Given the description of an element on the screen output the (x, y) to click on. 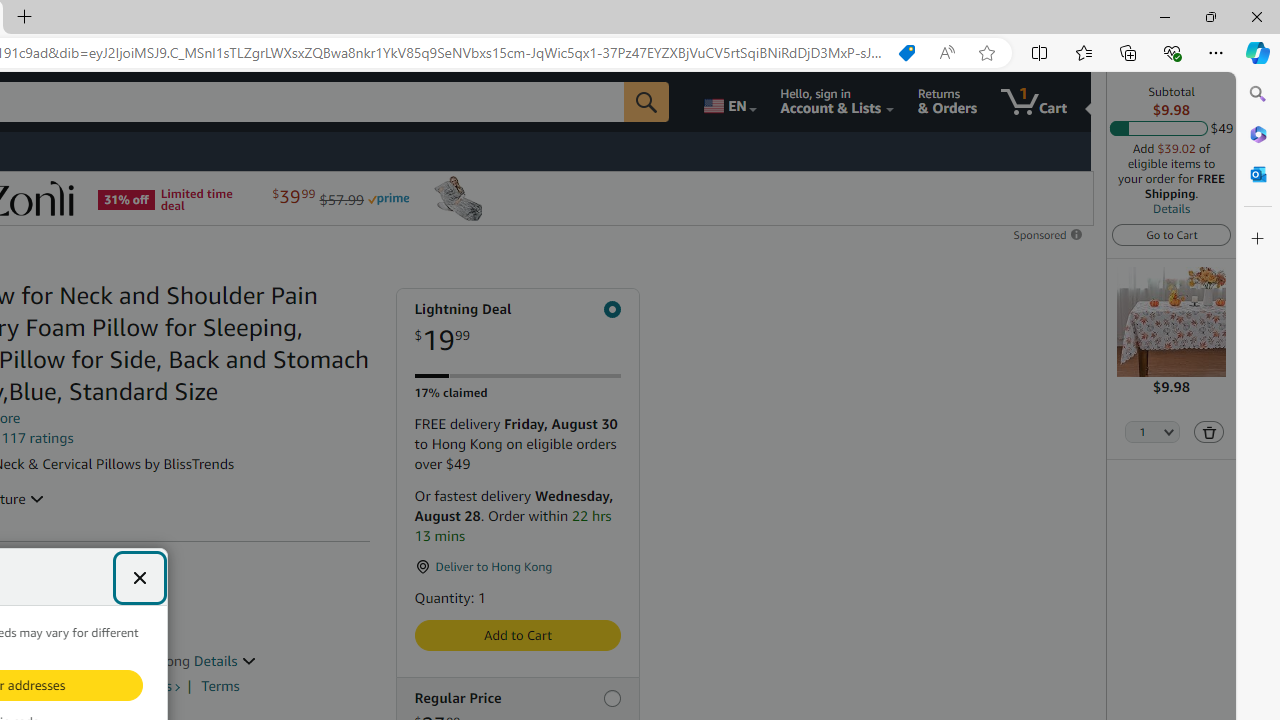
Details  (225, 660)
1 item in cart (1034, 101)
117 ratings (37, 438)
Lightning Deal $19.99 (516, 327)
Prime (388, 198)
Quantity Selector (1153, 433)
Choose a language for shopping. (728, 101)
Delete (1208, 431)
Go (646, 101)
